Given the description of an element on the screen output the (x, y) to click on. 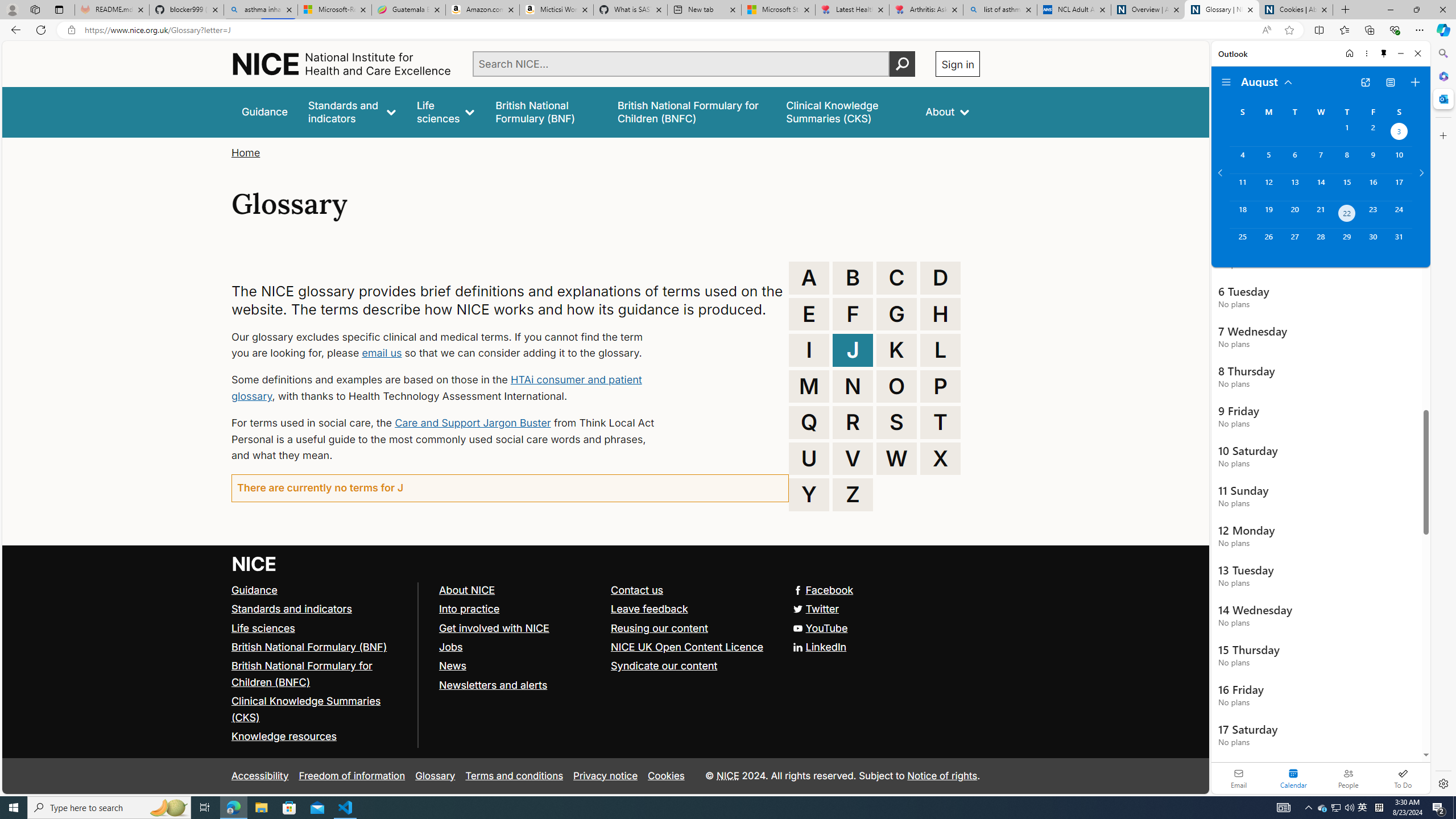
NCL Adult Asthma Inhaler Choice Guideline (1073, 9)
B (852, 277)
British National Formulary for Children (BNFC) (301, 673)
Sunday, August 11, 2024.  (1242, 186)
L (940, 350)
Notice of rights (941, 775)
Sunday, August 4, 2024.  (1242, 159)
Friday, August 9, 2024.  (1372, 159)
Tuesday, August 6, 2024.  (1294, 159)
Get involved with NICE (518, 628)
Sunday, August 25, 2024.  (1242, 241)
